Given the description of an element on the screen output the (x, y) to click on. 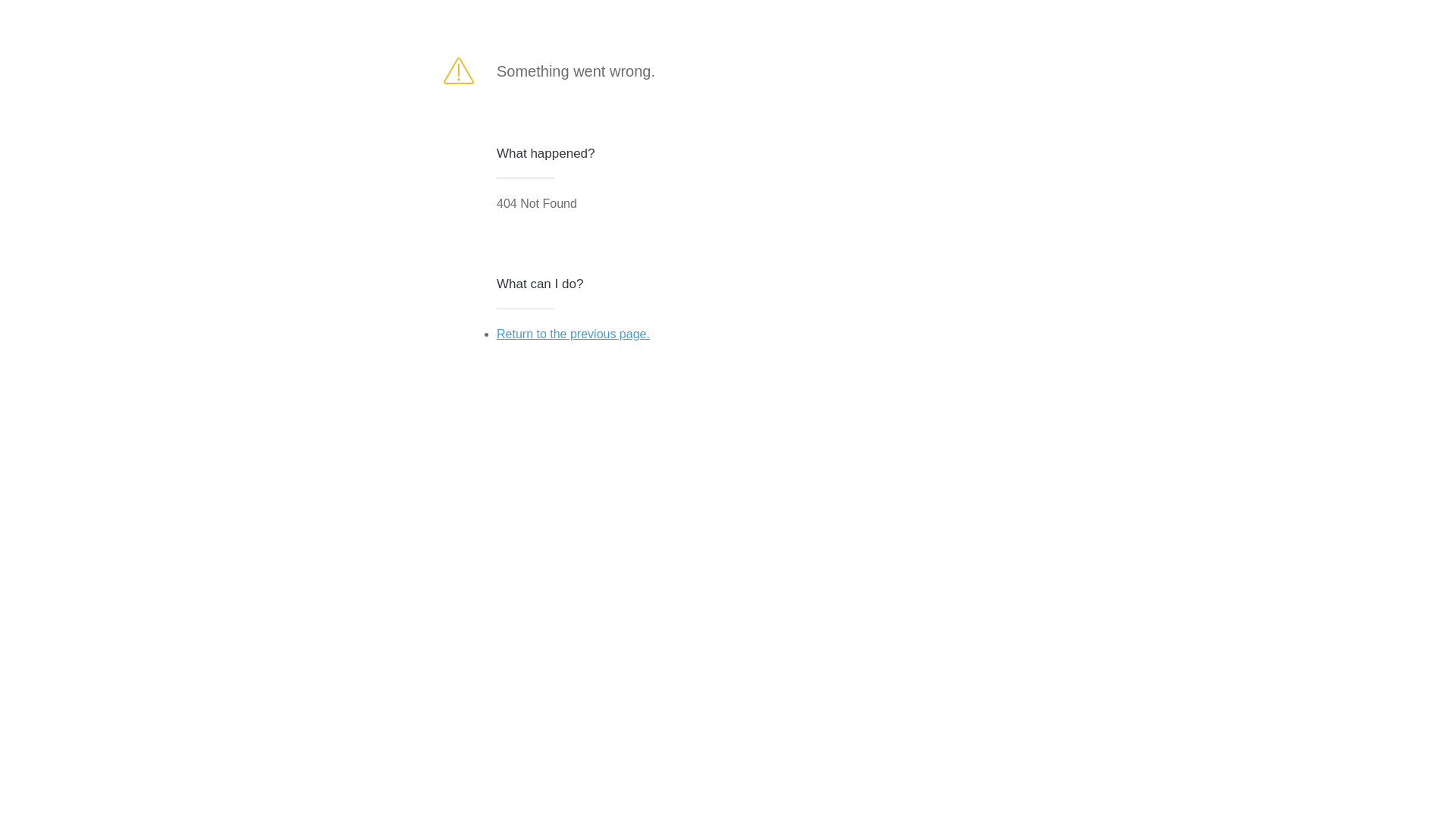
Return to the previous page. Element type: text (572, 333)
